Given the description of an element on the screen output the (x, y) to click on. 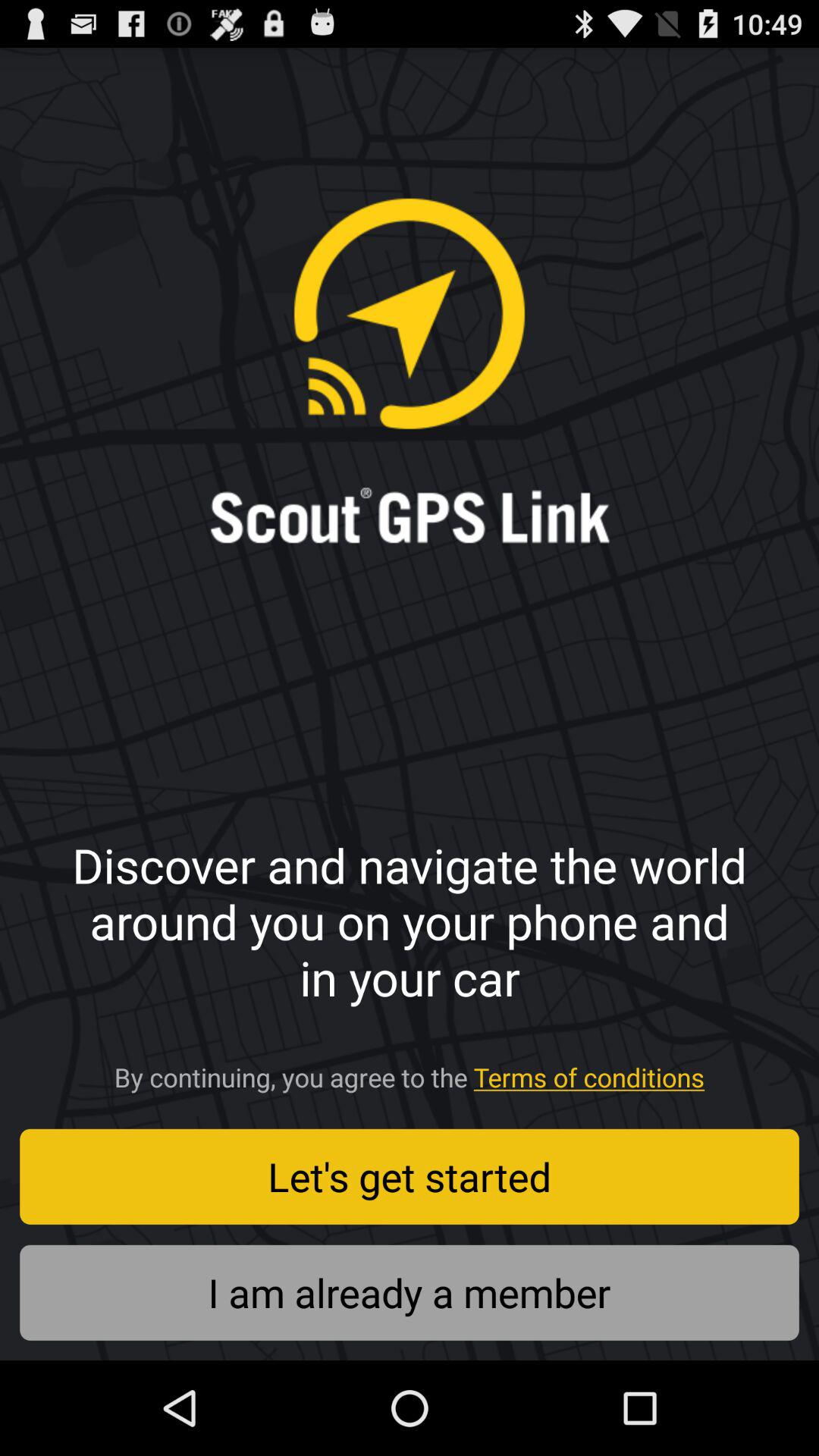
turn on the button above the i am already icon (409, 1176)
